Given the description of an element on the screen output the (x, y) to click on. 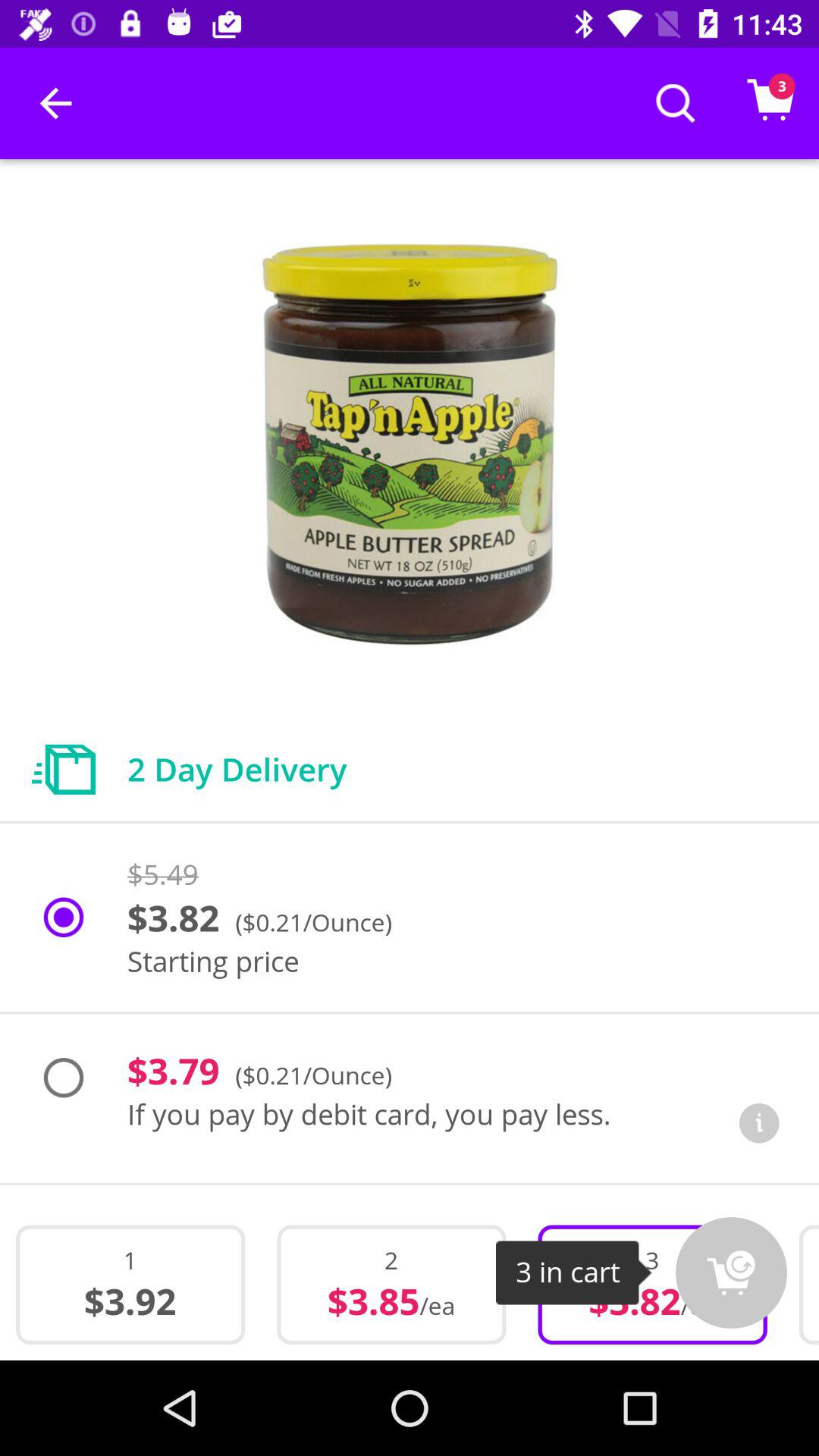
shop (731, 1272)
